Given the description of an element on the screen output the (x, y) to click on. 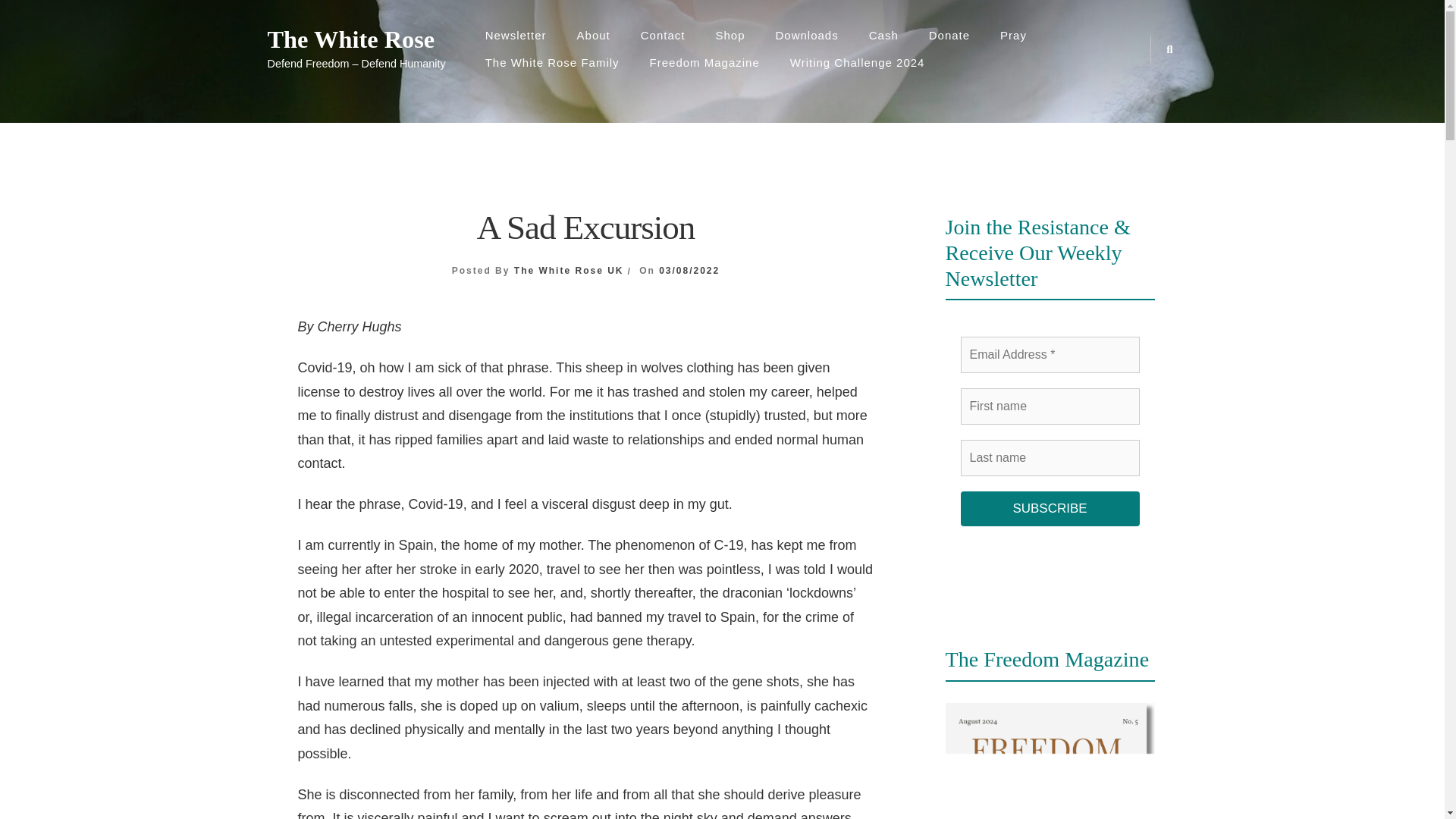
The Freedom Magazine (1049, 760)
Writing Challenge 2024 (857, 62)
Shop (730, 35)
First name (1048, 406)
Subscribe (1048, 508)
Donate (949, 35)
The White Rose Family (552, 62)
Email Address (1048, 354)
Subscribe (1048, 508)
Downloads (806, 35)
About (594, 35)
Pray (1013, 35)
The White Rose UK (568, 270)
Cash (883, 35)
Last name (1048, 457)
